Given the description of an element on the screen output the (x, y) to click on. 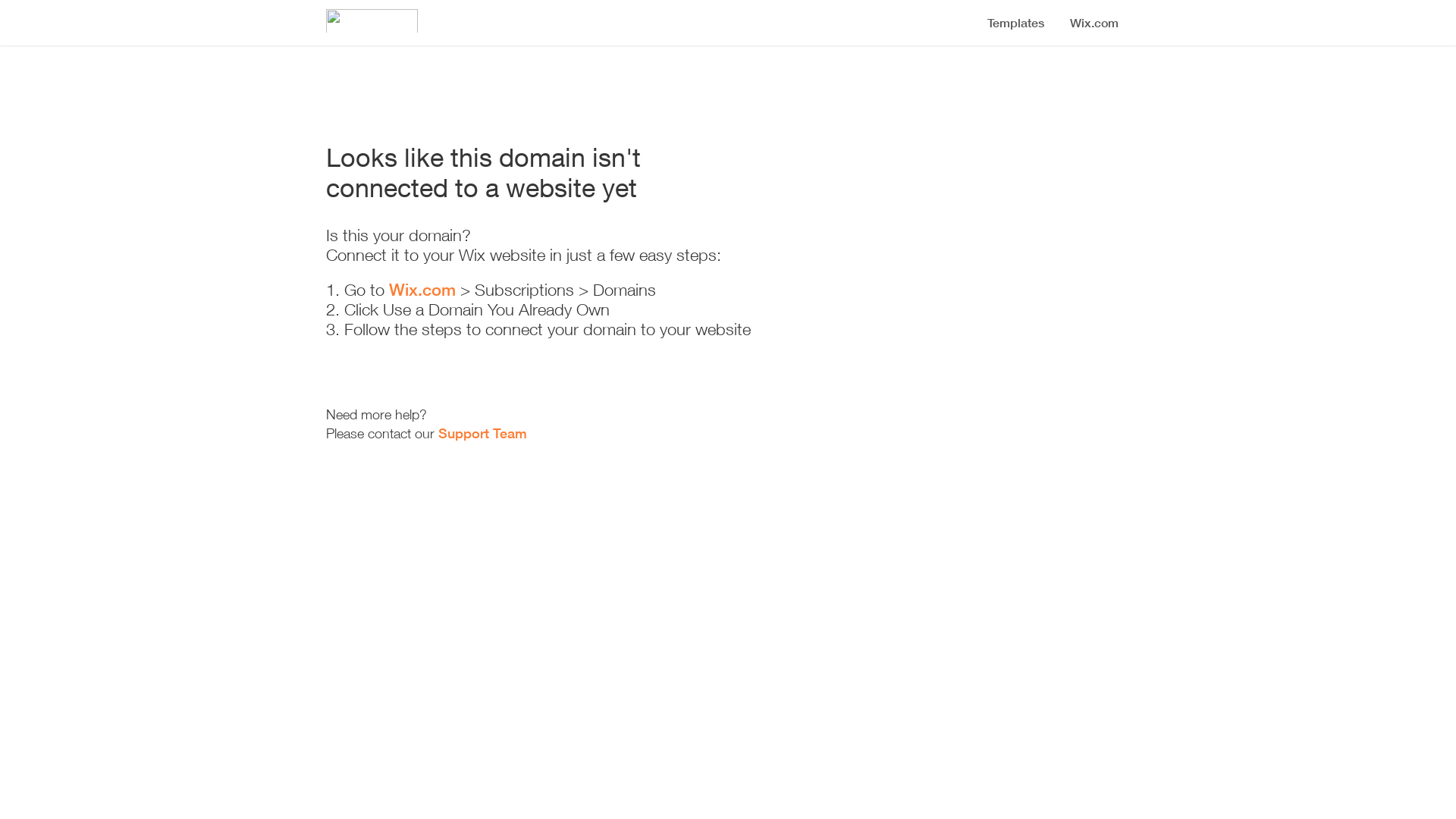
Support Team Element type: text (482, 432)
Wix.com Element type: text (422, 289)
